Given the description of an element on the screen output the (x, y) to click on. 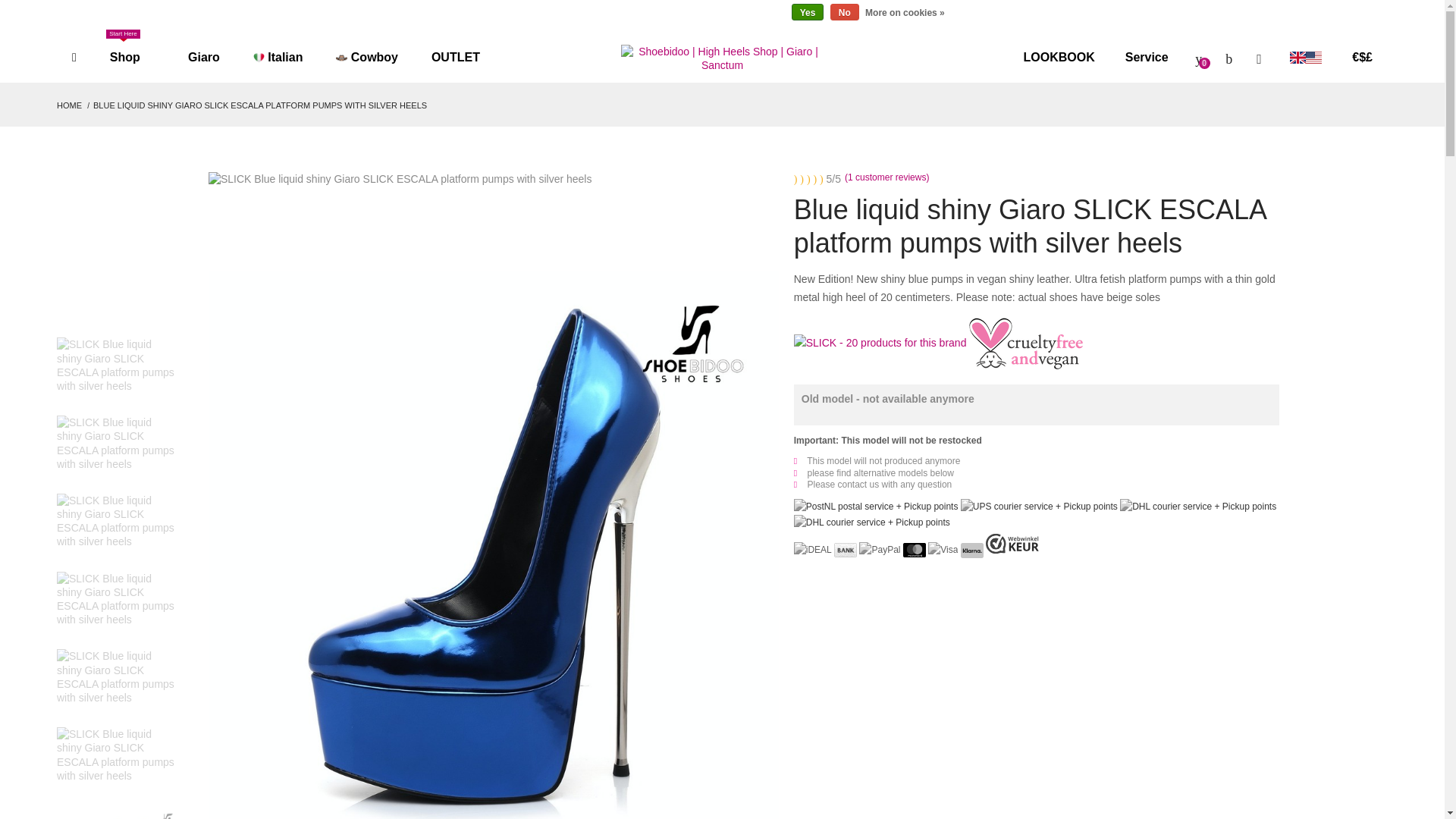
Giaro (196, 57)
Italian (277, 57)
